Given the description of an element on the screen output the (x, y) to click on. 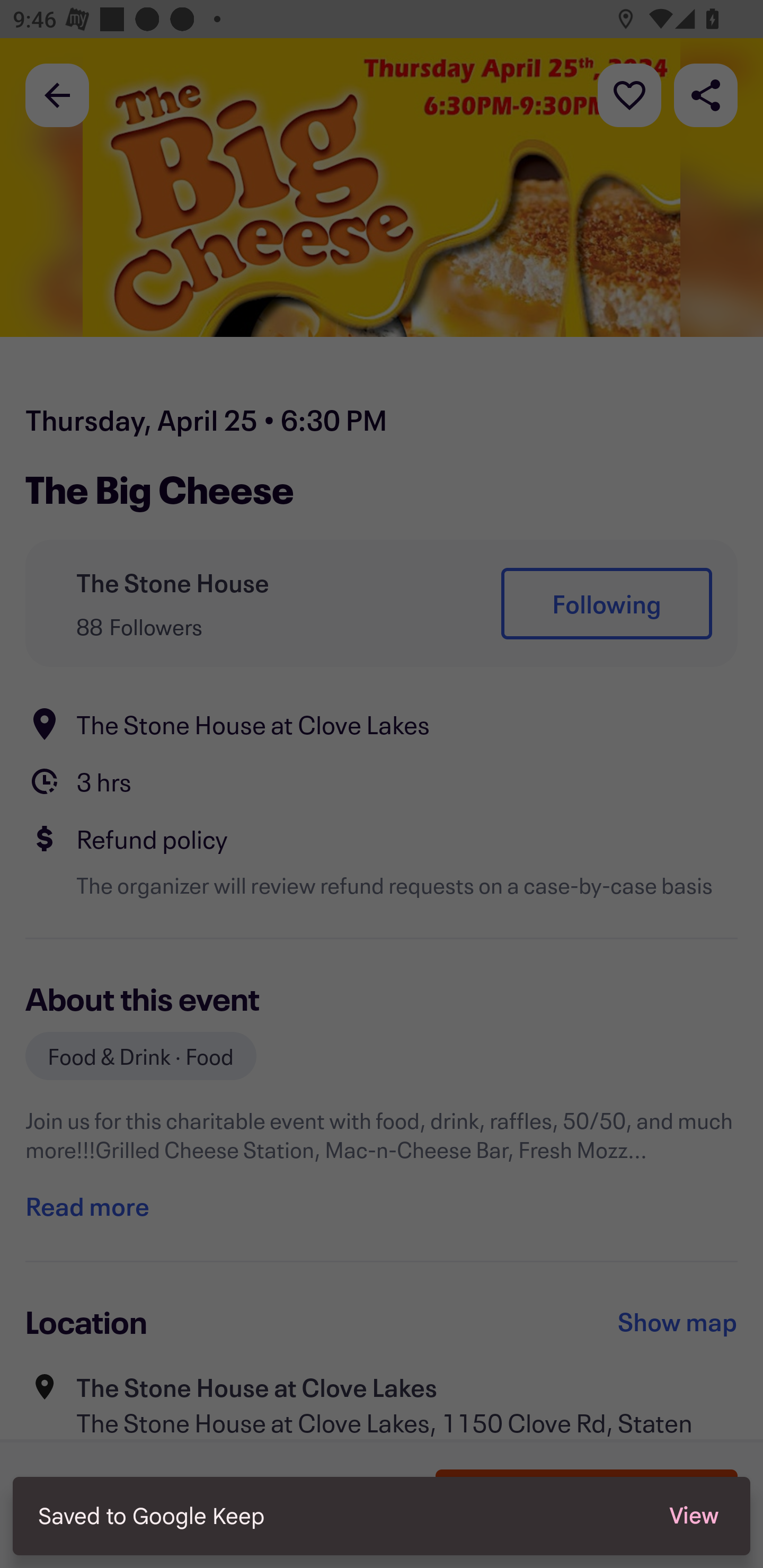
View (693, 1515)
